Given the description of an element on the screen output the (x, y) to click on. 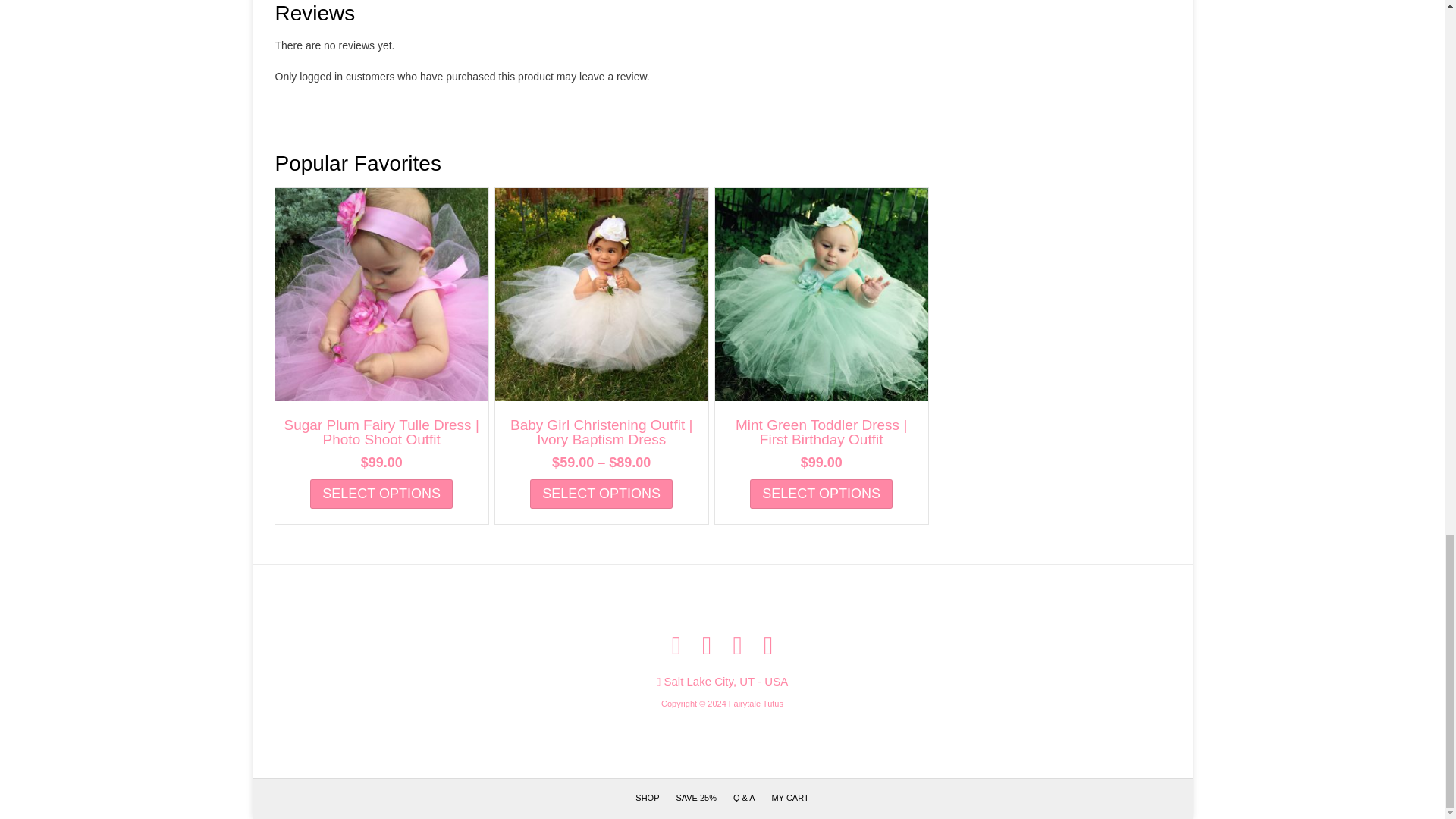
SELECT OPTIONS (600, 493)
SELECT OPTIONS (820, 493)
SELECT OPTIONS (381, 493)
